Given the description of an element on the screen output the (x, y) to click on. 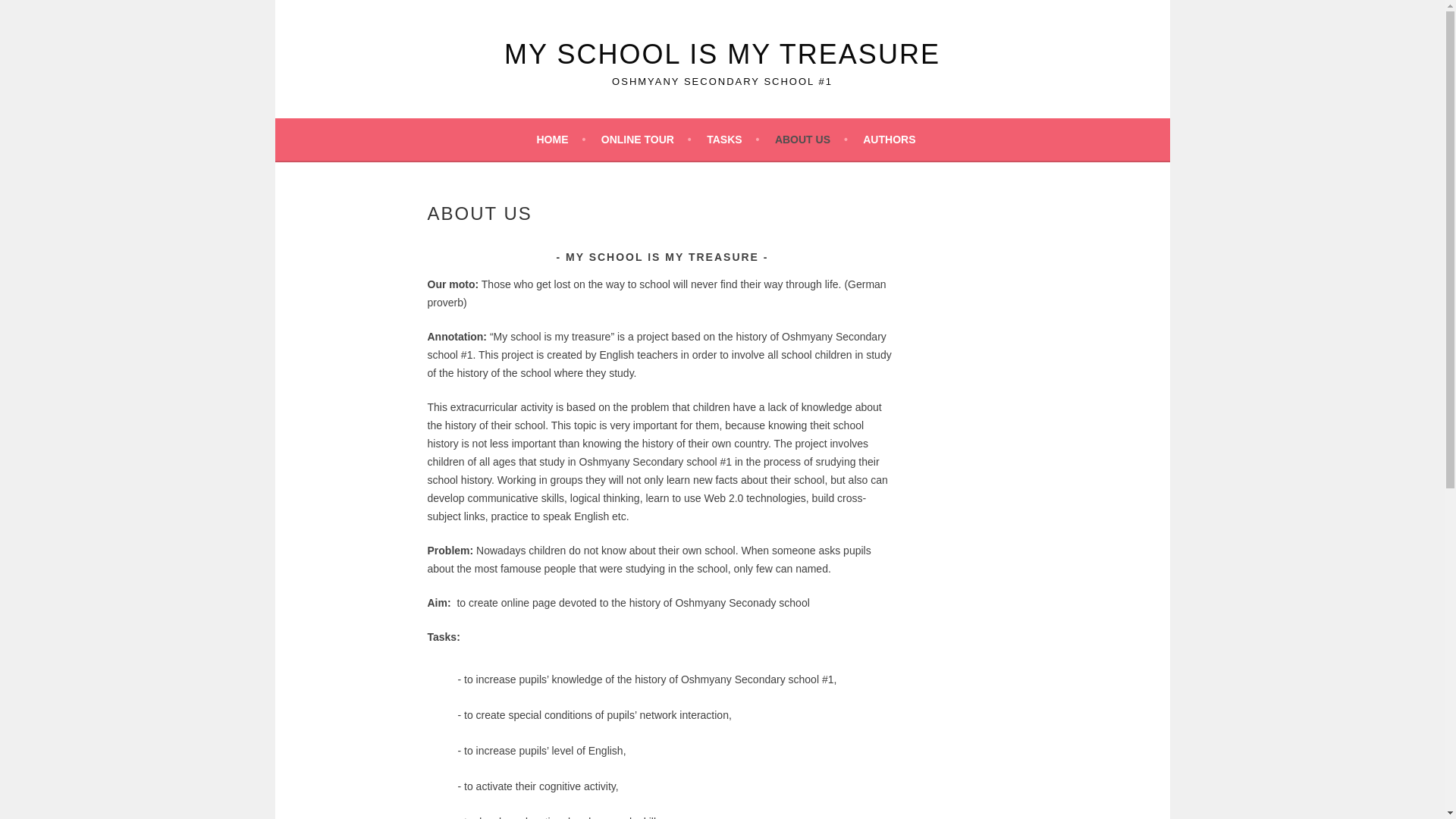
HOME Element type: text (561, 139)
AUTHORS Element type: text (893, 139)
TASKS Element type: text (732, 139)
MY SCHOOL IS MY TREASURE Element type: text (722, 53)
ABOUT US Element type: text (811, 139)
ONLINE TOUR Element type: text (646, 139)
